Given the description of an element on the screen output the (x, y) to click on. 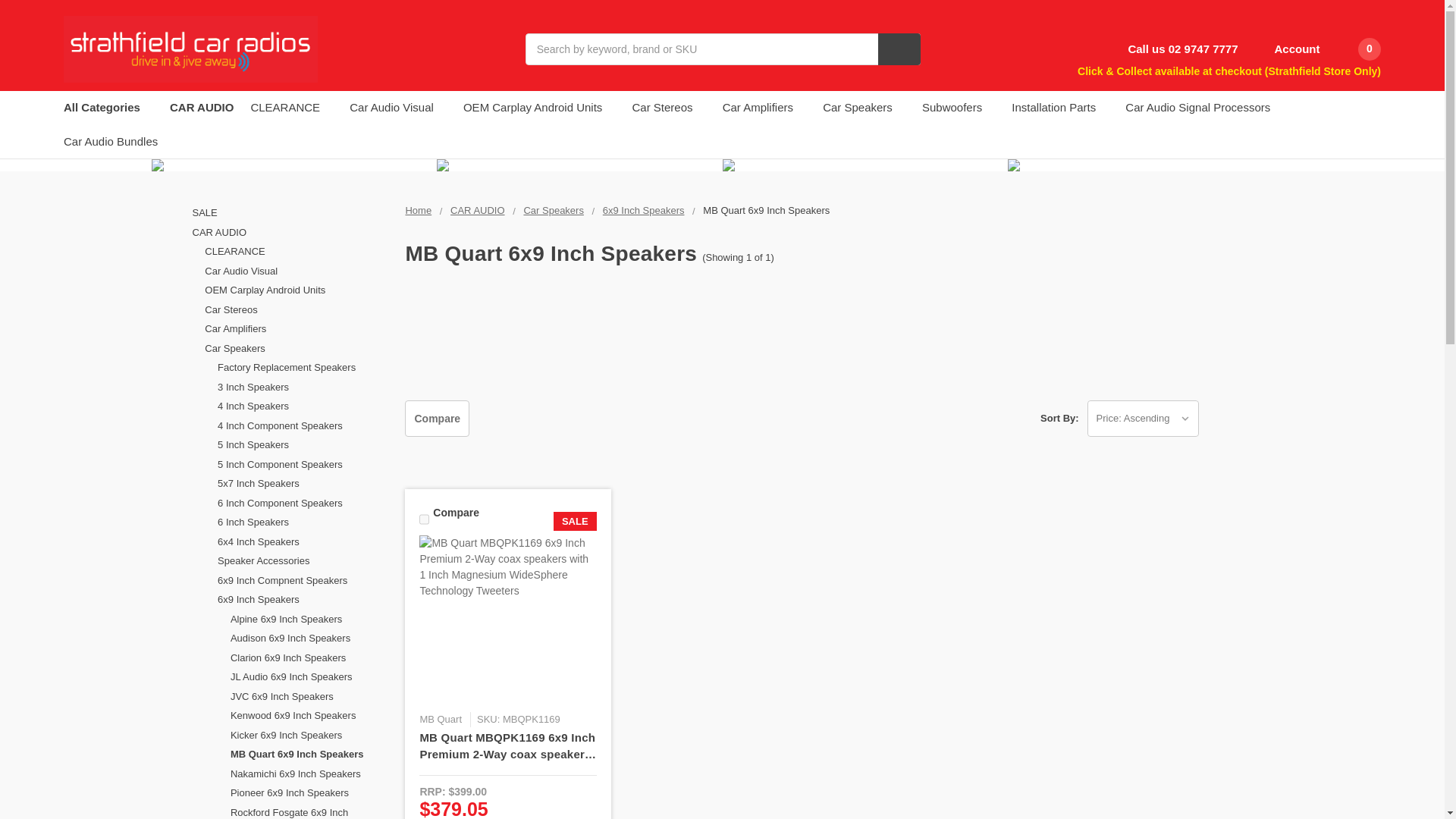
Speaker Accessories (302, 560)
5x7 Inch Speakers (302, 483)
Car Stereos (296, 310)
CLEARANCE (296, 251)
6 Inch Speakers (302, 522)
Factory Replacement Speakers (302, 367)
4 Inch Component Speakers (302, 425)
www.strathfieldcarradios.com.au (190, 48)
6x4 Inch Speakers (302, 542)
Account (1286, 49)
OEM Carplay Android Units (296, 290)
5 Inch Component Speakers (302, 465)
Car Amplifiers (296, 329)
5 Inch Speakers (302, 444)
CAR AUDIO (290, 232)
